Given the description of an element on the screen output the (x, y) to click on. 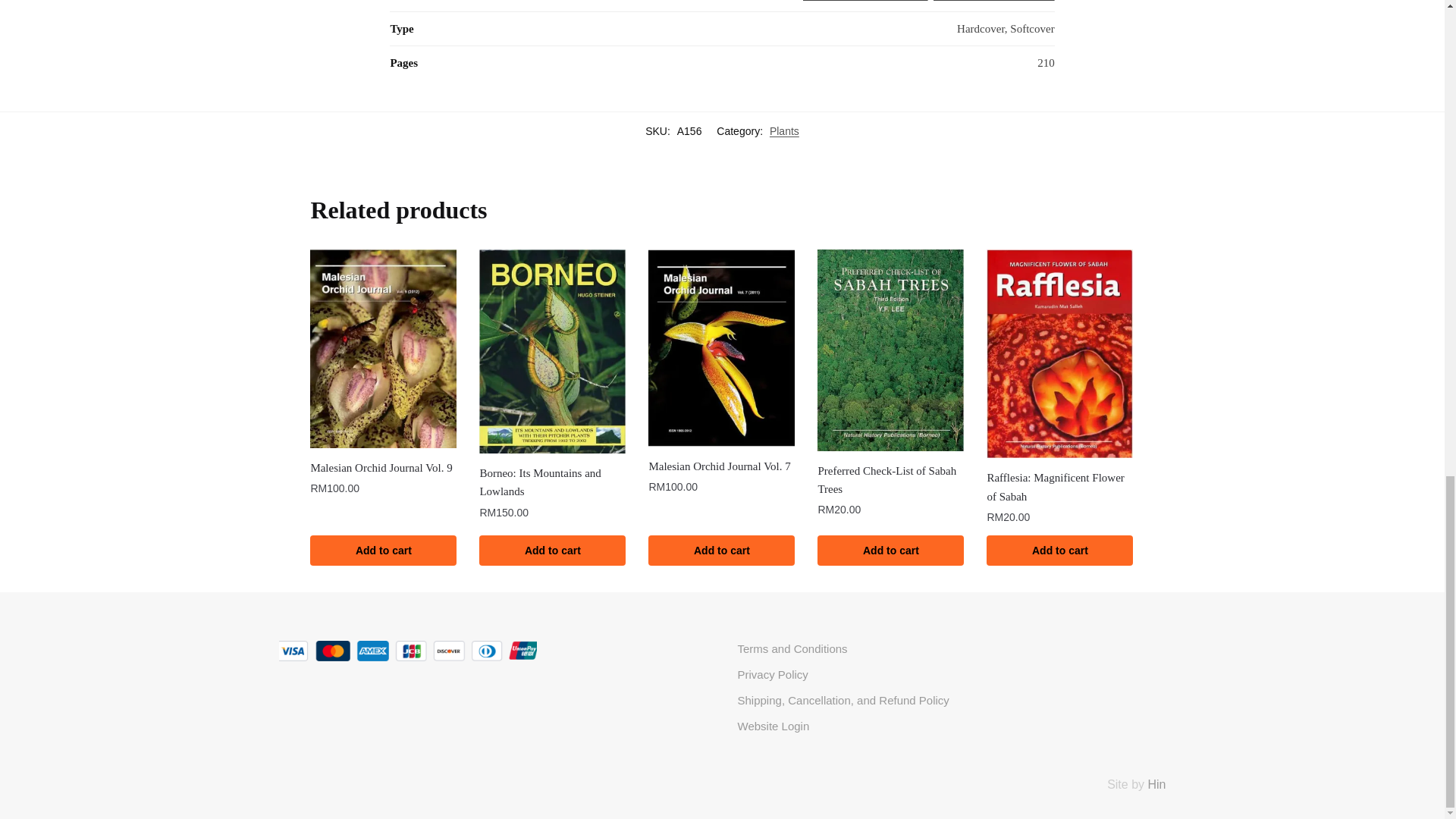
Malesian Orchid Journal Vol. 9 (383, 348)
Malesian Orchid Journal Vol. 9 (383, 467)
Plants (784, 131)
Hin Design (1156, 784)
Add to cart (383, 550)
Borneo: Its Mountains and Lowlands (552, 351)
Malesian Orchid Journal Vol. 7 (720, 347)
Preferred Check-List of Sabah Trees (889, 350)
Rafflesia: Magnificent Flower of Sabah (1059, 353)
